Given the description of an element on the screen output the (x, y) to click on. 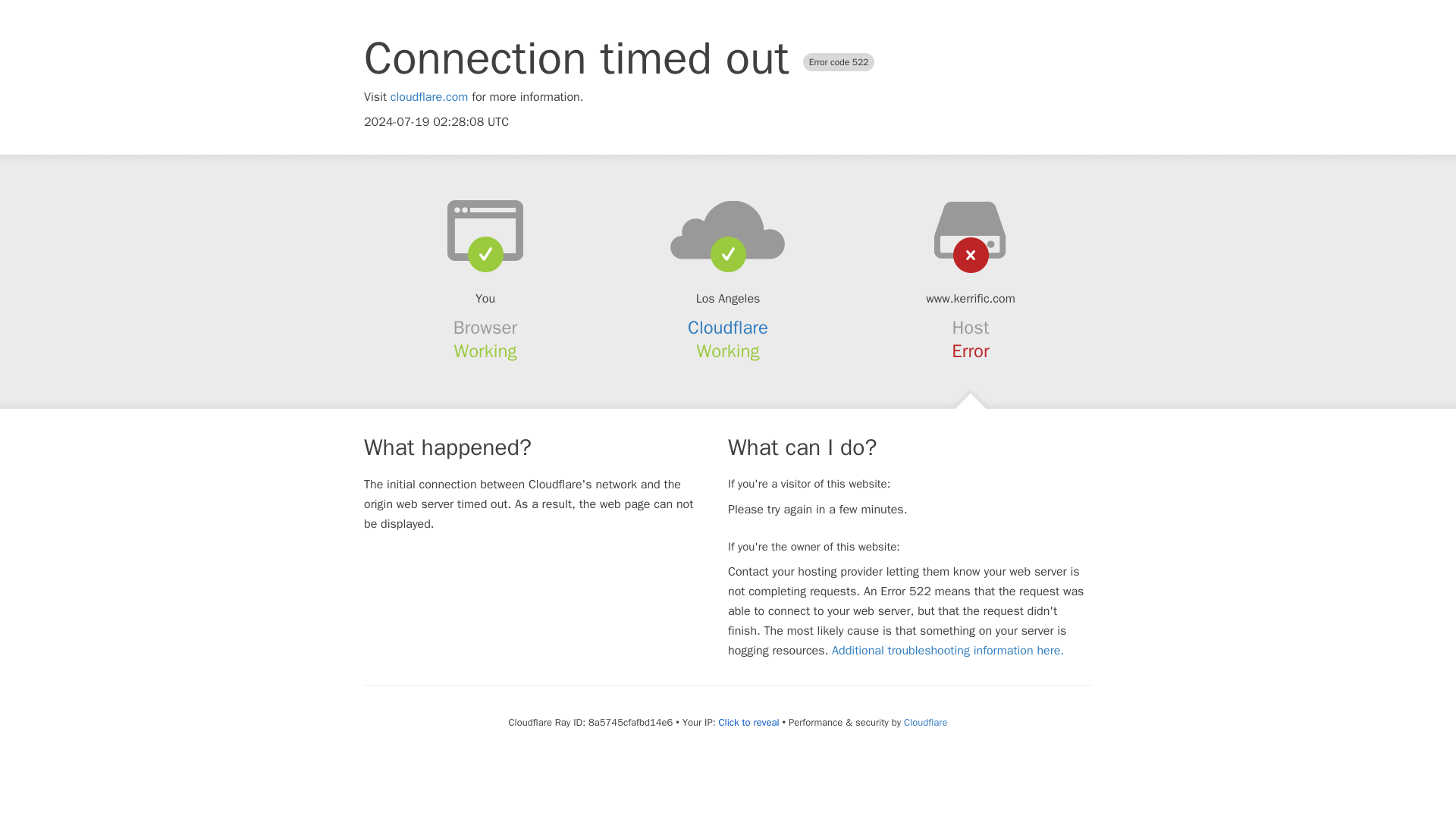
cloudflare.com (429, 96)
Cloudflare (925, 721)
Click to reveal (748, 722)
Cloudflare (727, 327)
Additional troubleshooting information here. (947, 650)
